Given the description of an element on the screen output the (x, y) to click on. 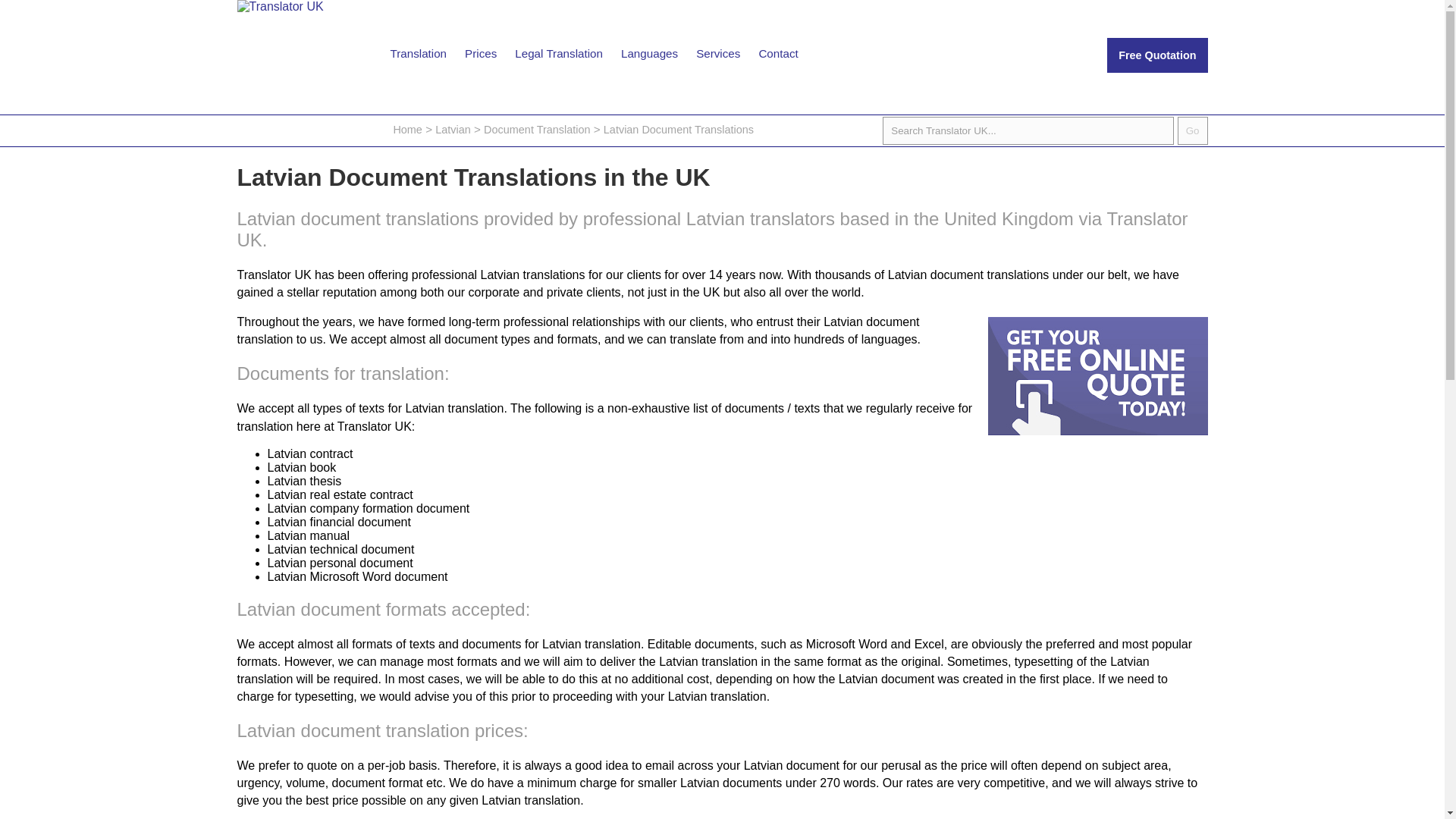
Latvian Translation Agency (452, 129)
Document Translation (536, 129)
Latvian Document Translations (679, 129)
Latvian (452, 129)
Translation Languages (649, 52)
Translation Services (718, 52)
Translation Types (417, 52)
Latvian Document Translations (679, 129)
Translation Prices (480, 52)
Go (1192, 130)
Languages (649, 52)
Free Quotation (1156, 54)
Legal Translation (558, 52)
Home (407, 129)
Services (718, 52)
